Given the description of an element on the screen output the (x, y) to click on. 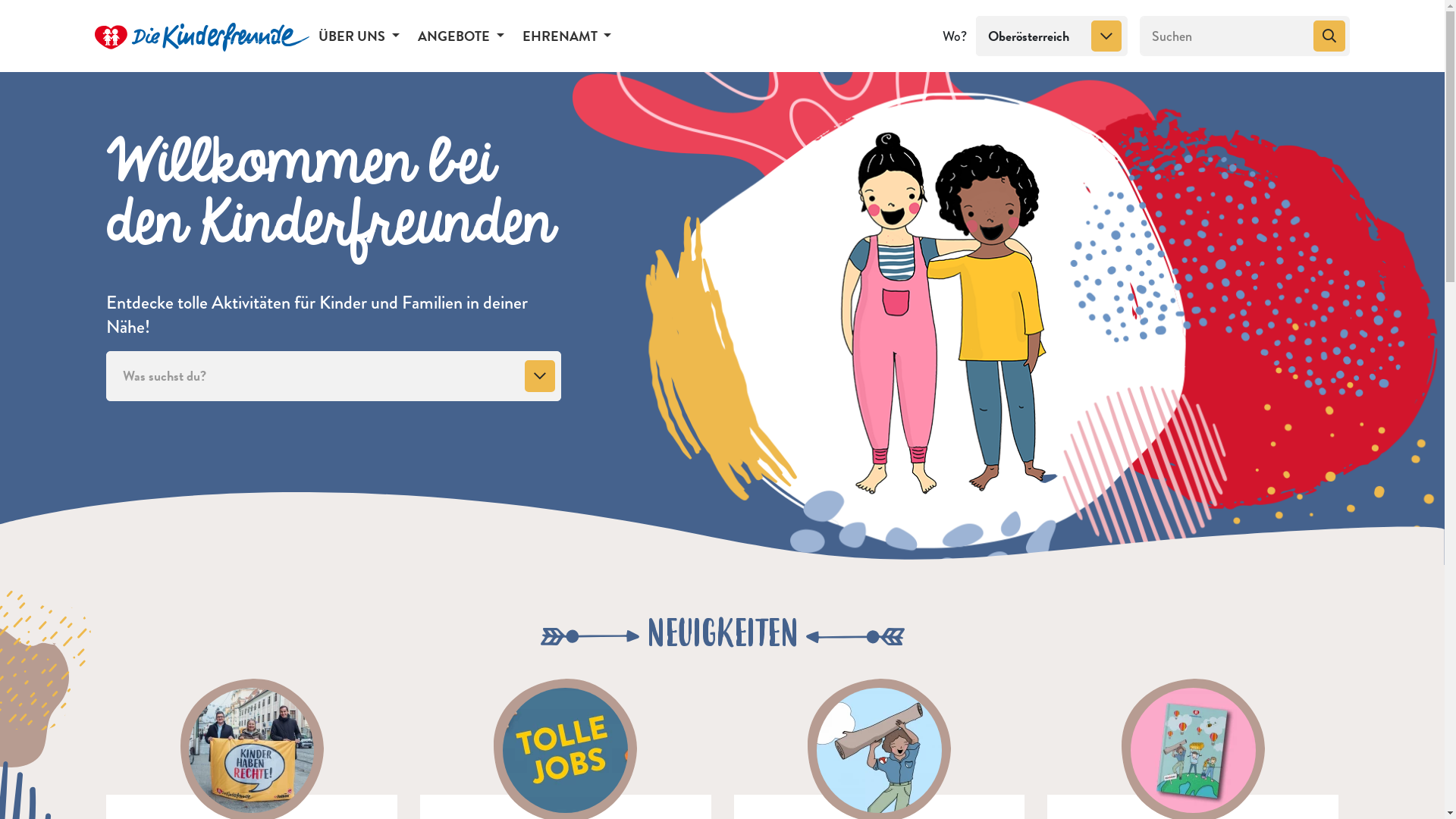
ANGEBOTE Element type: text (460, 35)
EHRENAMT Element type: text (567, 35)
Was suchst du? Element type: text (333, 376)
